Given the description of an element on the screen output the (x, y) to click on. 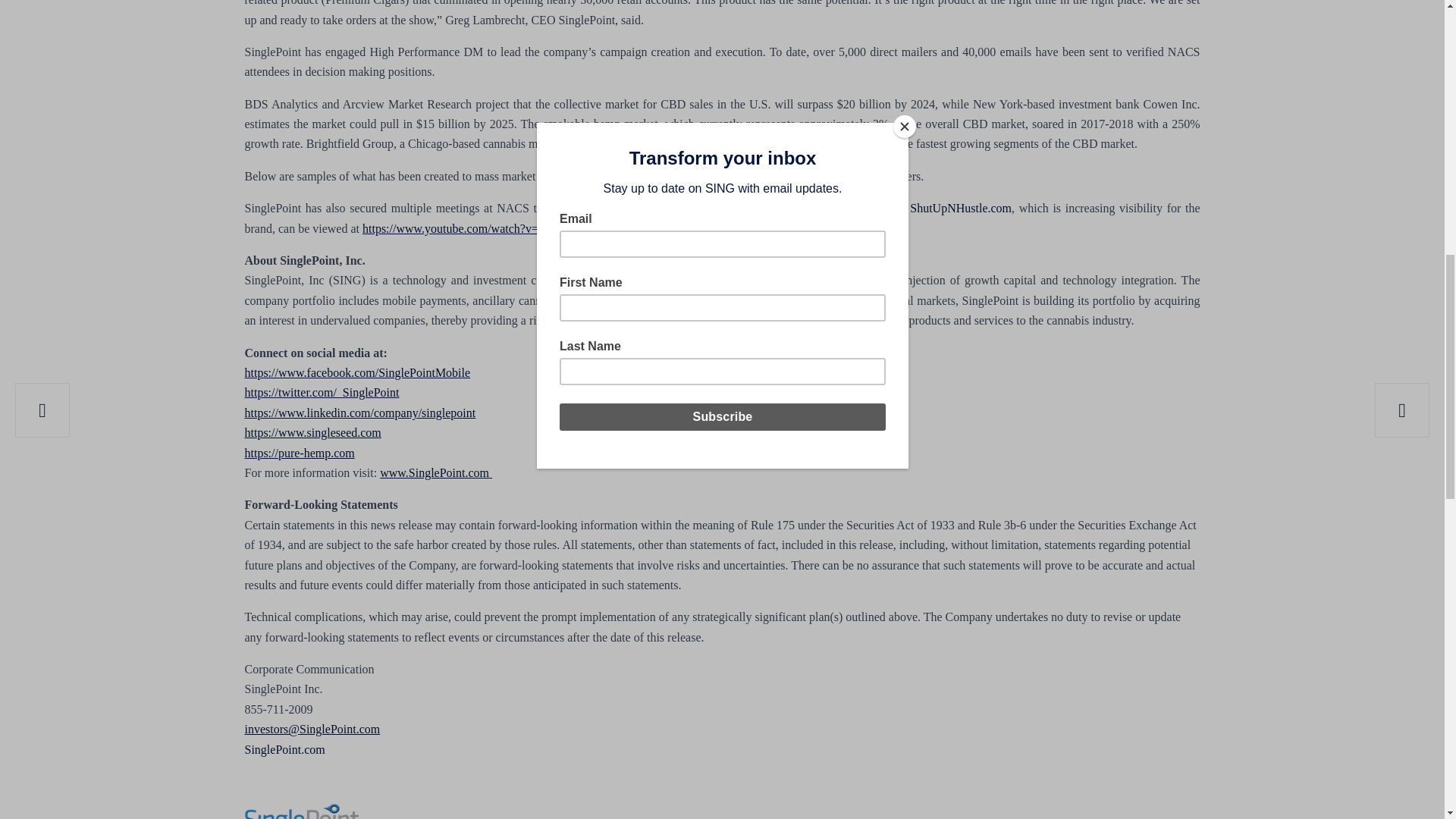
SingleSeed (748, 320)
nacs.pure-hemp.com (696, 208)
ShutUpNHustle.com (960, 208)
